Given the description of an element on the screen output the (x, y) to click on. 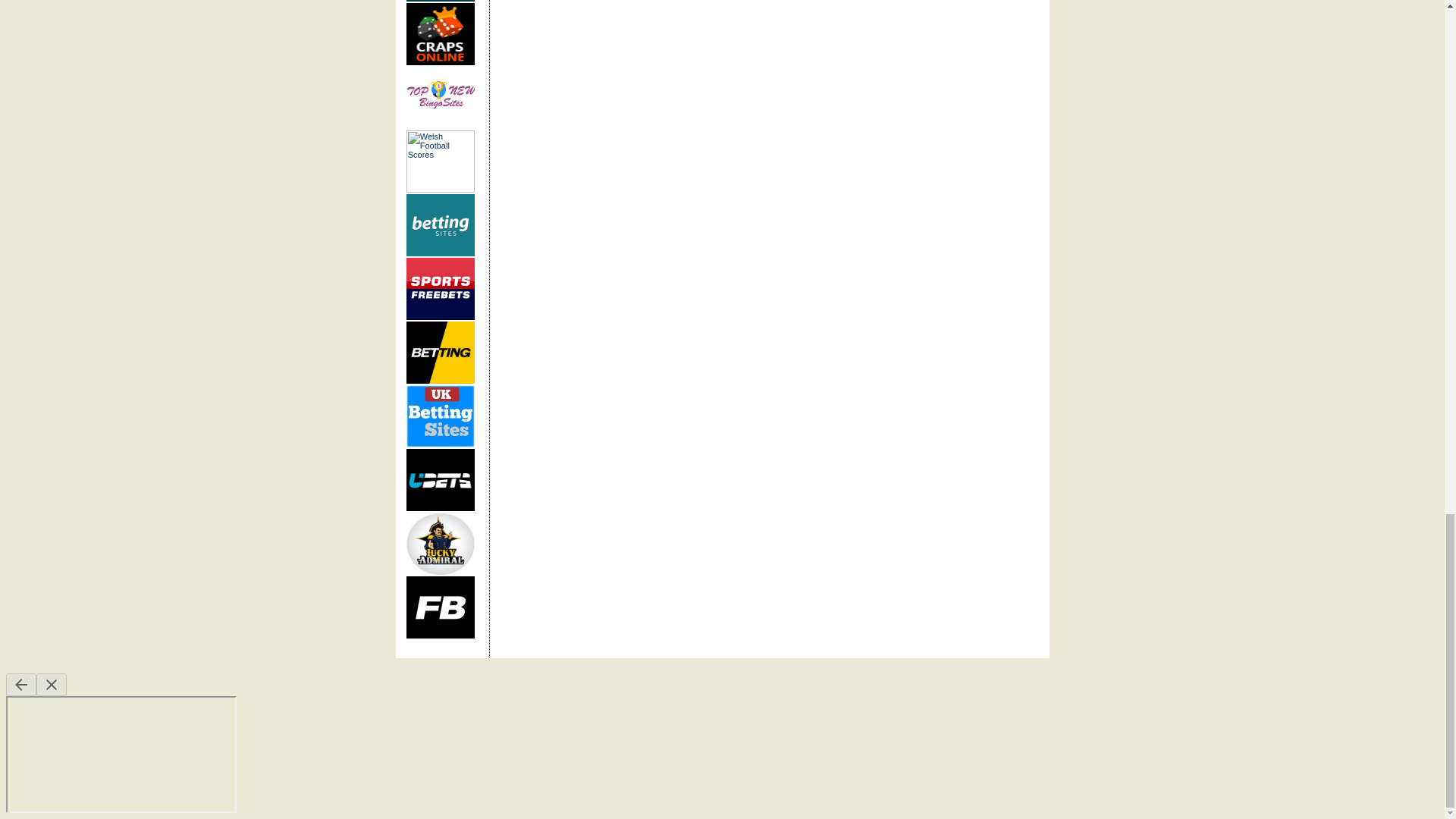
Best Betting Websites (440, 352)
Lucky Admiral - huge collection of mobile casino games (440, 543)
Welsh Football Scores (440, 161)
Best Betting Sites (440, 415)
Best free bets for UK customers (440, 607)
Sports Free Bets (440, 288)
Best New Bingo sites (440, 97)
UBets (440, 479)
